Given the description of an element on the screen output the (x, y) to click on. 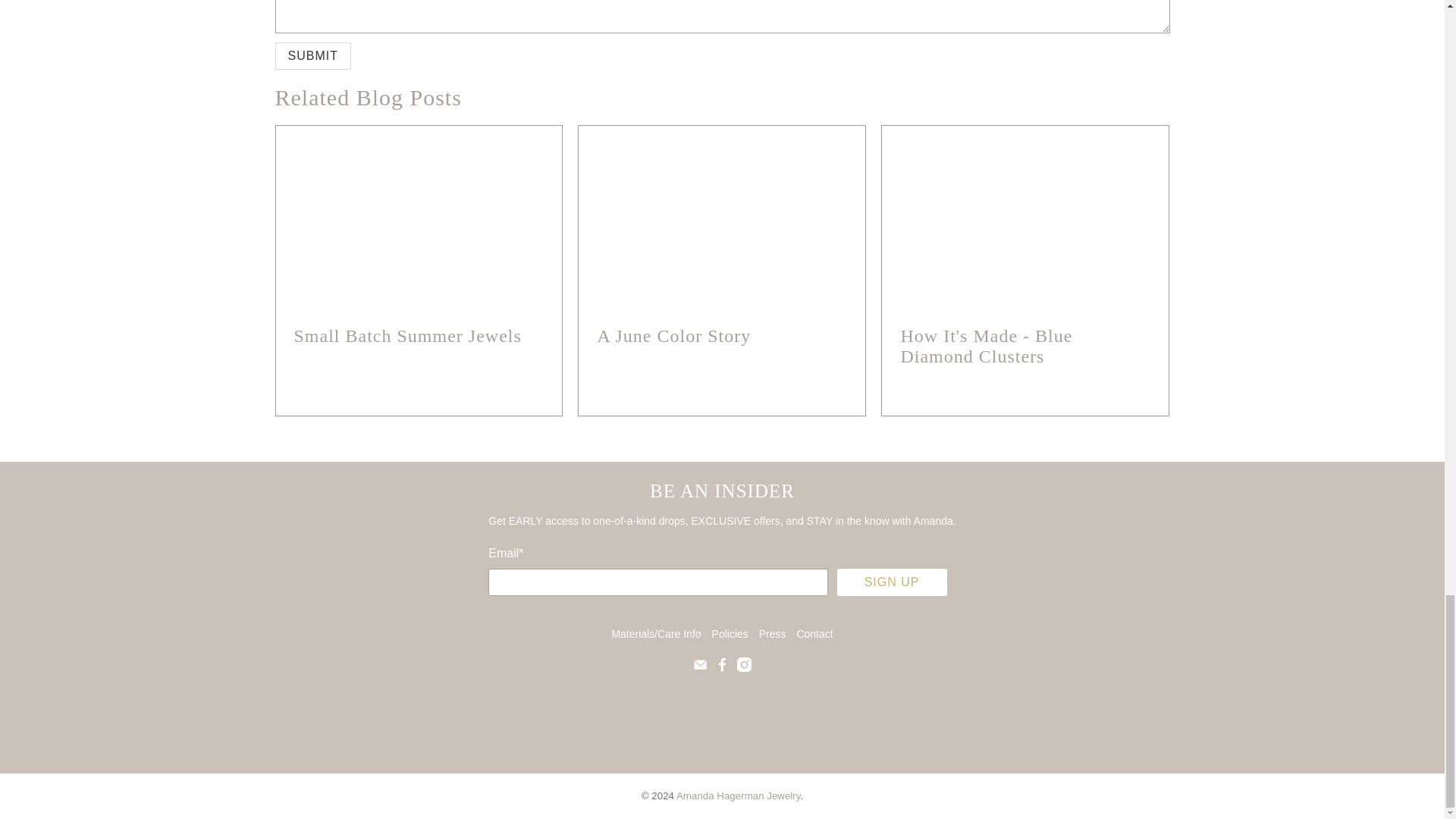
Email Amanda Hagerman Jewelry (700, 667)
Submit (312, 55)
Small Batch Summer Jewels (407, 335)
How It's Made - Blue Diamond Clusters (1025, 216)
Small Batch Summer Jewels (419, 216)
A June Color Story (673, 335)
Amanda Hagerman Jewelry on Facebook (721, 667)
A June Color Story (721, 216)
How It's Made - Blue Diamond Clusters (985, 345)
